Given the description of an element on the screen output the (x, y) to click on. 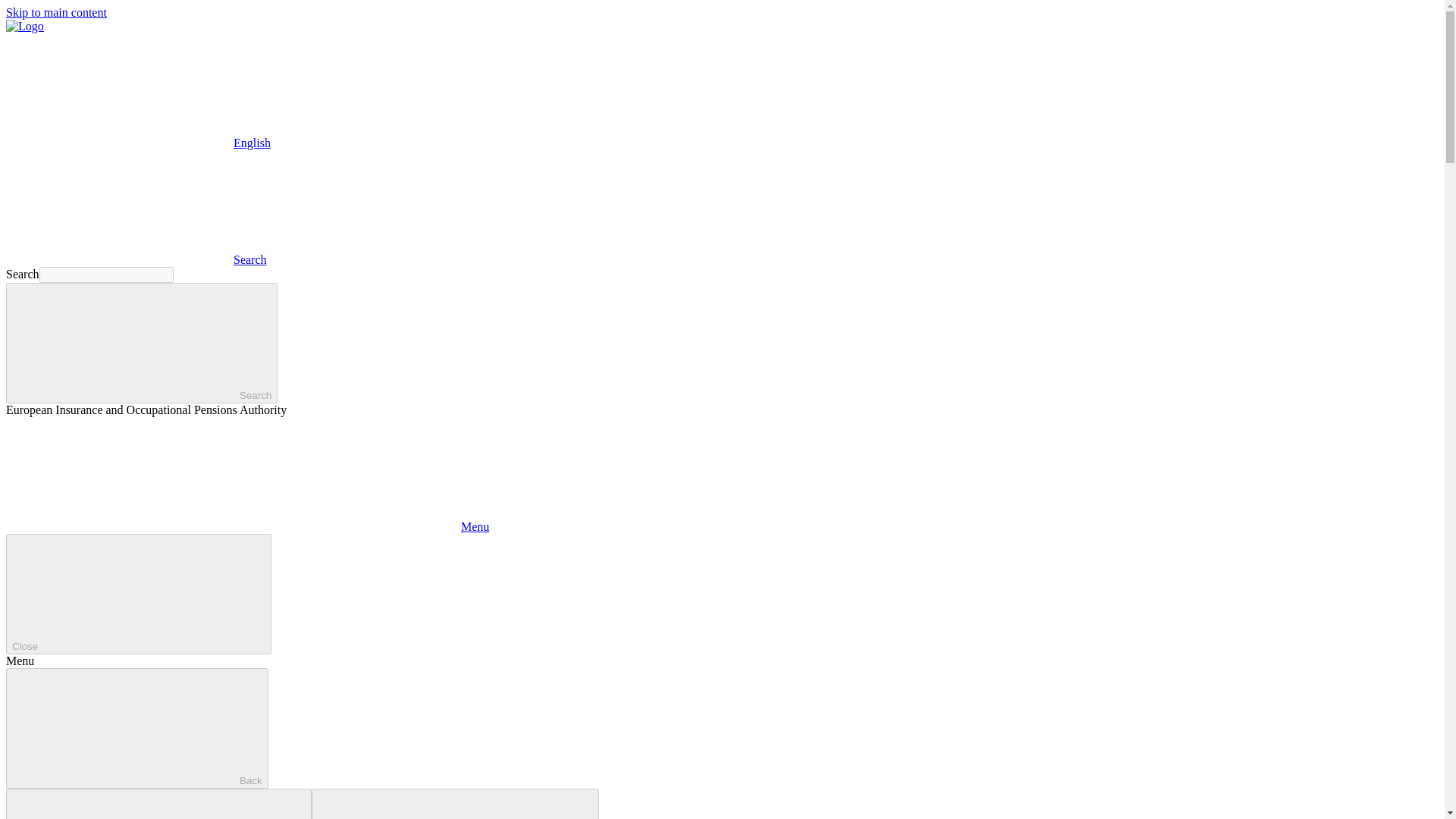
Search (141, 342)
English (118, 90)
EnglishEnglish (137, 142)
European Insurance and Occupational Pensions Authority (24, 25)
Search (135, 259)
Back (136, 728)
Close (137, 593)
Menu (247, 526)
Next items (454, 803)
Skip to main content (55, 11)
Previous items (158, 803)
